Given the description of an element on the screen output the (x, y) to click on. 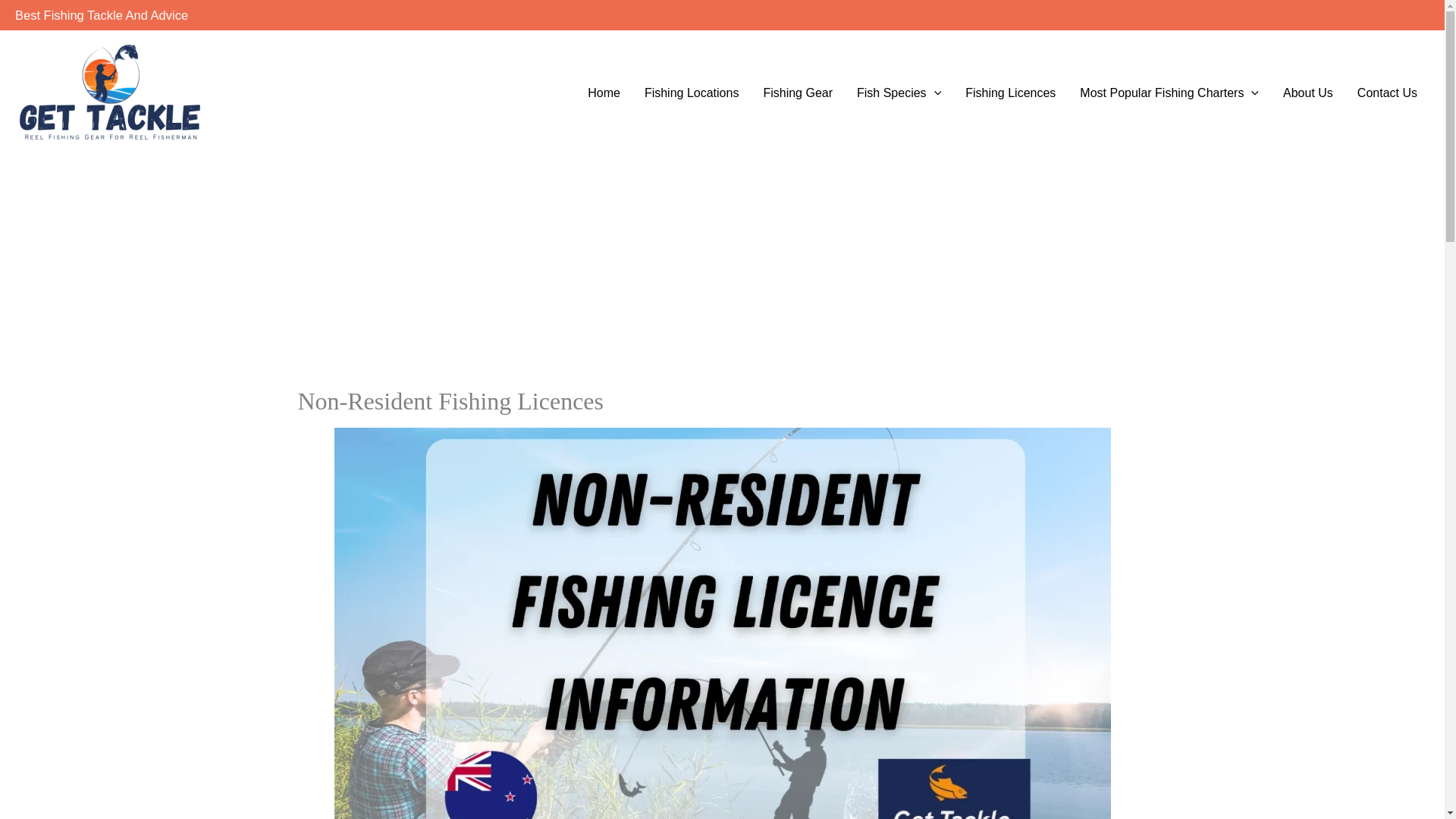
Fish Species (898, 92)
Fishing Gear (797, 92)
Fishing Locations (691, 92)
Fishing Licences (1010, 92)
Contact Us (1387, 92)
Most Popular Fishing Charters (1169, 92)
Home (603, 92)
About Us (1308, 92)
